Given the description of an element on the screen output the (x, y) to click on. 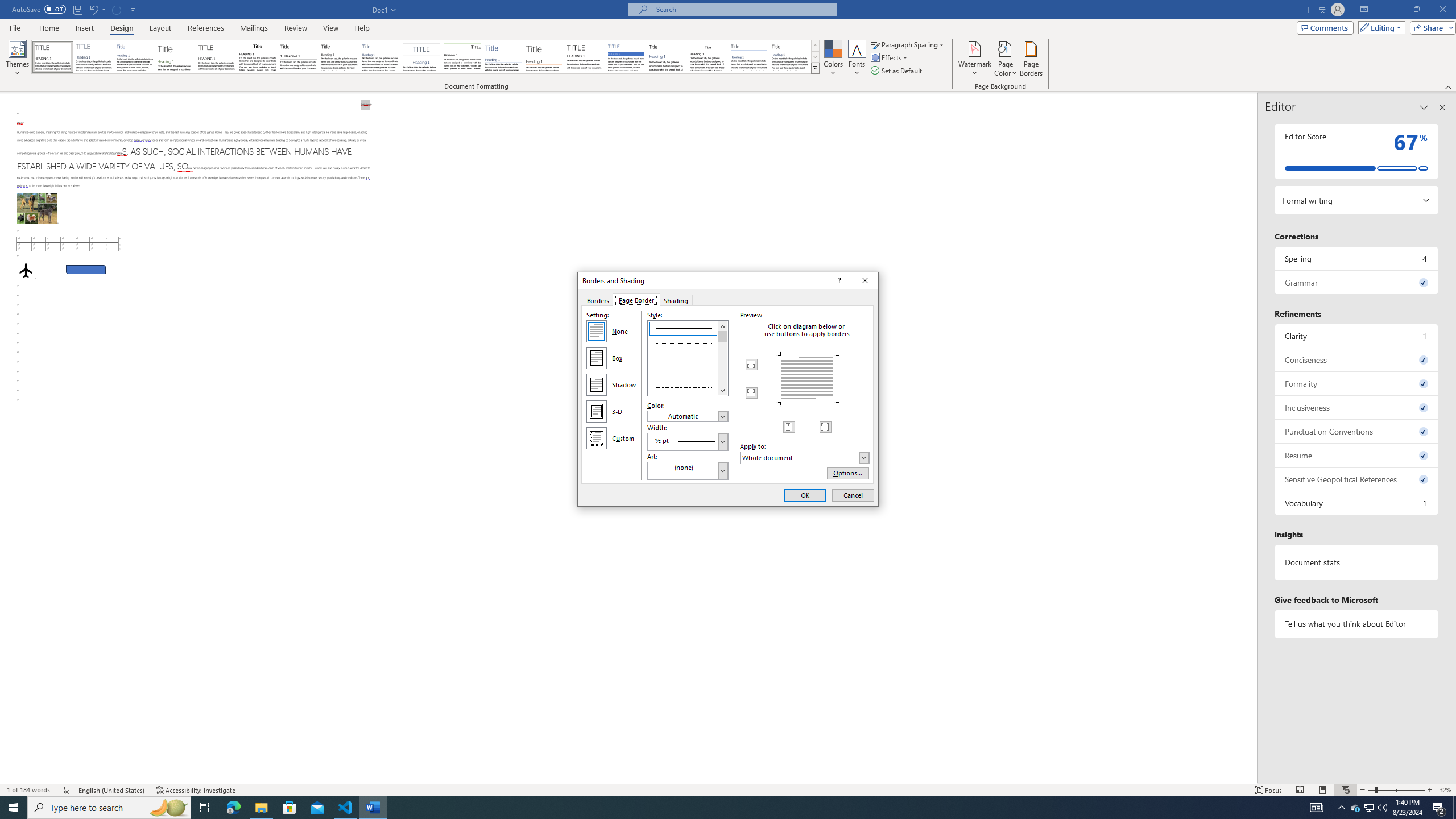
Paragraph Spacing (908, 44)
Dashed (large gap) (687, 371)
Microsoft search (742, 9)
Single solid line (687, 327)
Top Border (751, 364)
Show desktop (1454, 807)
Document (52, 56)
Resume, 0 issues. Press space or enter to review items. (1356, 454)
Effects (890, 56)
Spelling, 4 issues. Press space or enter to review items. (1356, 258)
Black & White (Capitalized) (216, 56)
